Given the description of an element on the screen output the (x, y) to click on. 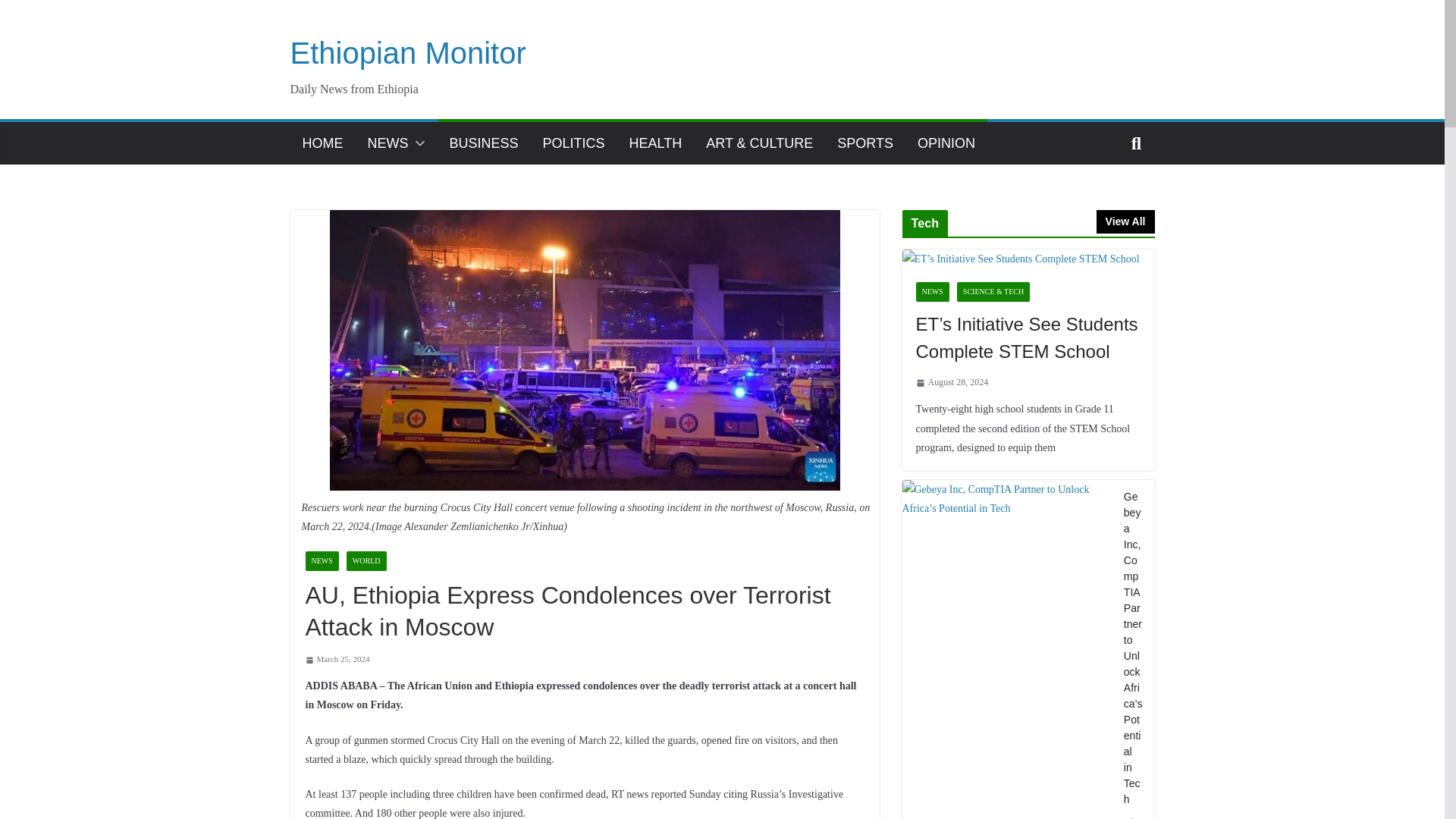
Ethiopian Monitor (407, 52)
HEALTH (655, 143)
7:08 pm (951, 382)
March 25, 2024 (336, 659)
View All (1125, 221)
NEWS (932, 291)
Ethiopian Monitor (407, 52)
NEWS (386, 143)
1:26 pm (336, 659)
OPINION (946, 143)
